Given the description of an element on the screen output the (x, y) to click on. 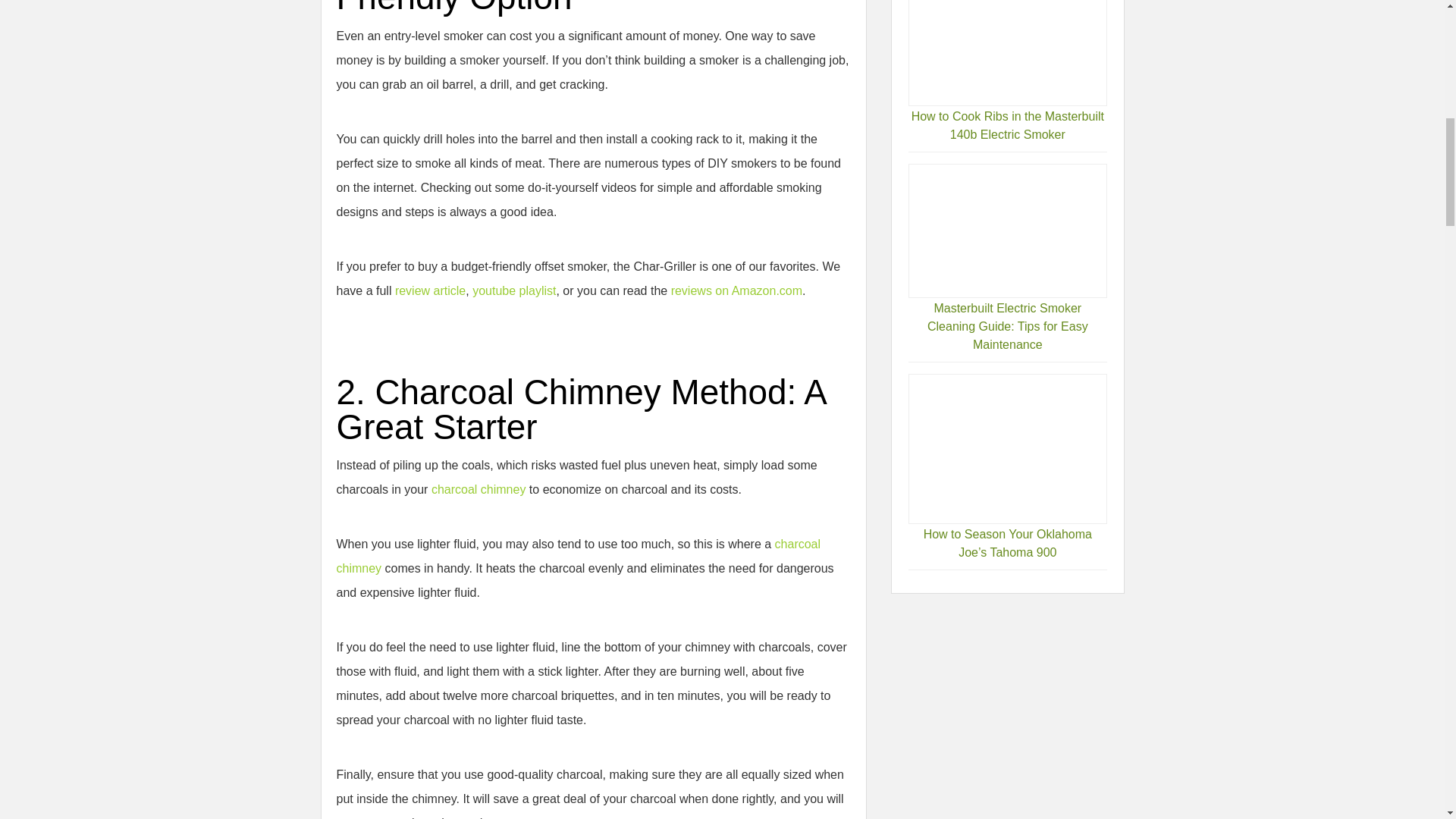
How to Cook Ribs in the Masterbuilt 140b Electric Smoker (1007, 124)
charcoal chimney (477, 489)
youtube playlist (513, 290)
reviews on Amazon.com (736, 290)
review article (429, 290)
charcoal chimney (578, 555)
